Given the description of an element on the screen output the (x, y) to click on. 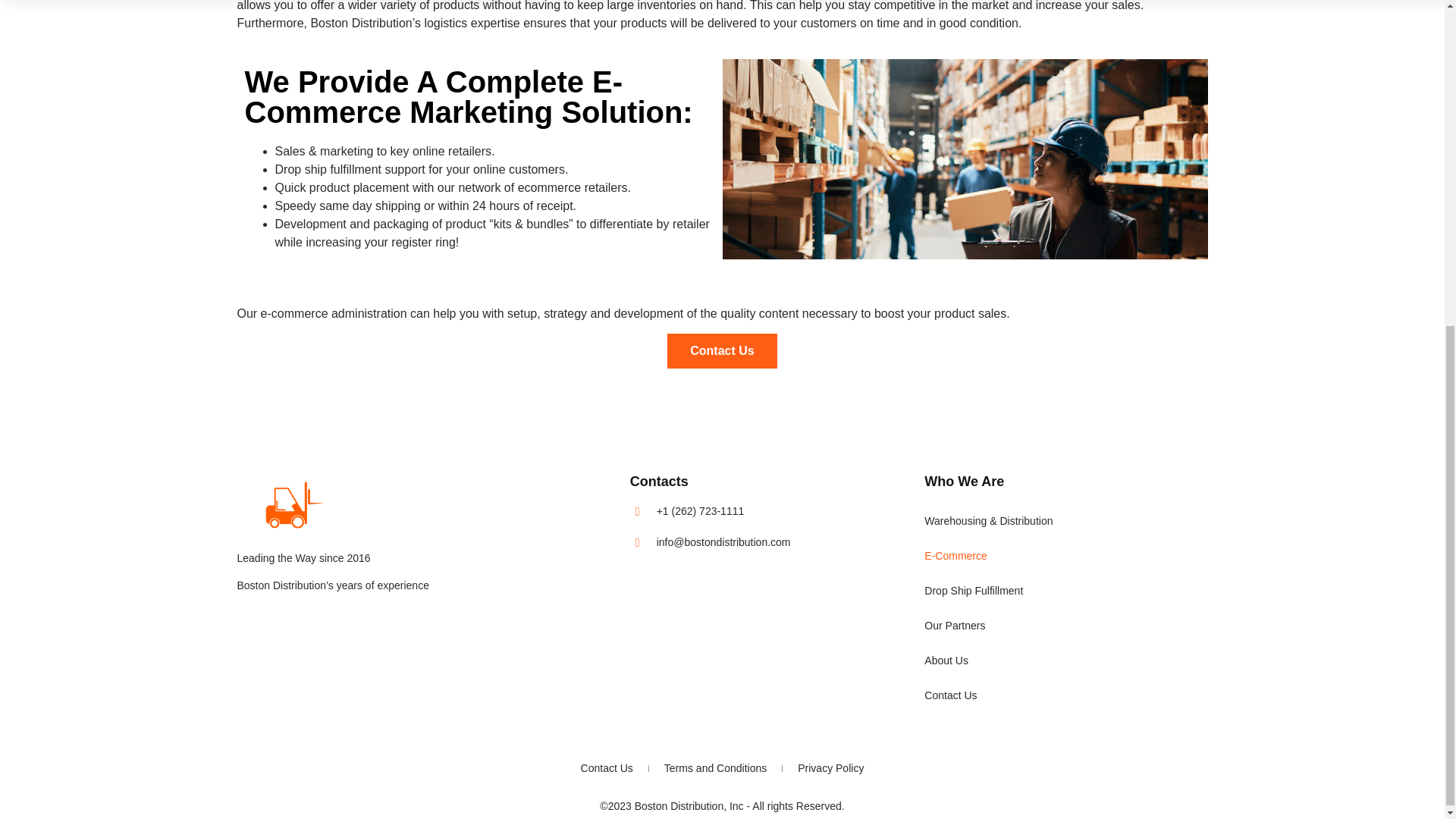
Contact Us (721, 350)
Our Partners (1064, 625)
Drop Ship Fulfillment (1064, 590)
E-Commerce (1064, 555)
